Given the description of an element on the screen output the (x, y) to click on. 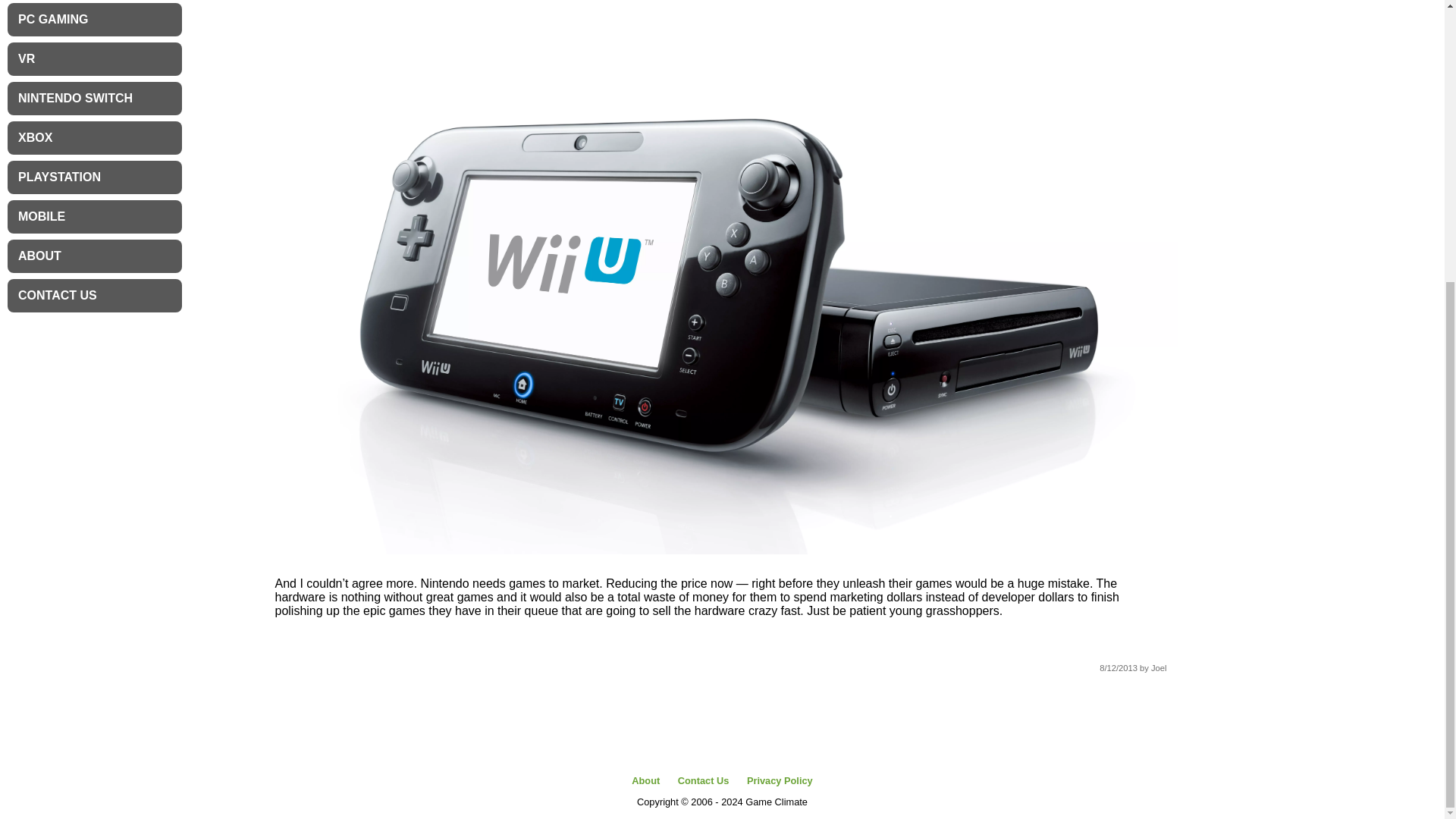
Contact Us (703, 780)
ABOUT (94, 255)
VR (94, 59)
NINTENDO SWITCH (94, 98)
XBOX (94, 137)
CONTACT US (94, 295)
About (645, 780)
MOBILE (94, 216)
PC GAMING (94, 19)
Privacy Policy (779, 780)
